Given the description of an element on the screen output the (x, y) to click on. 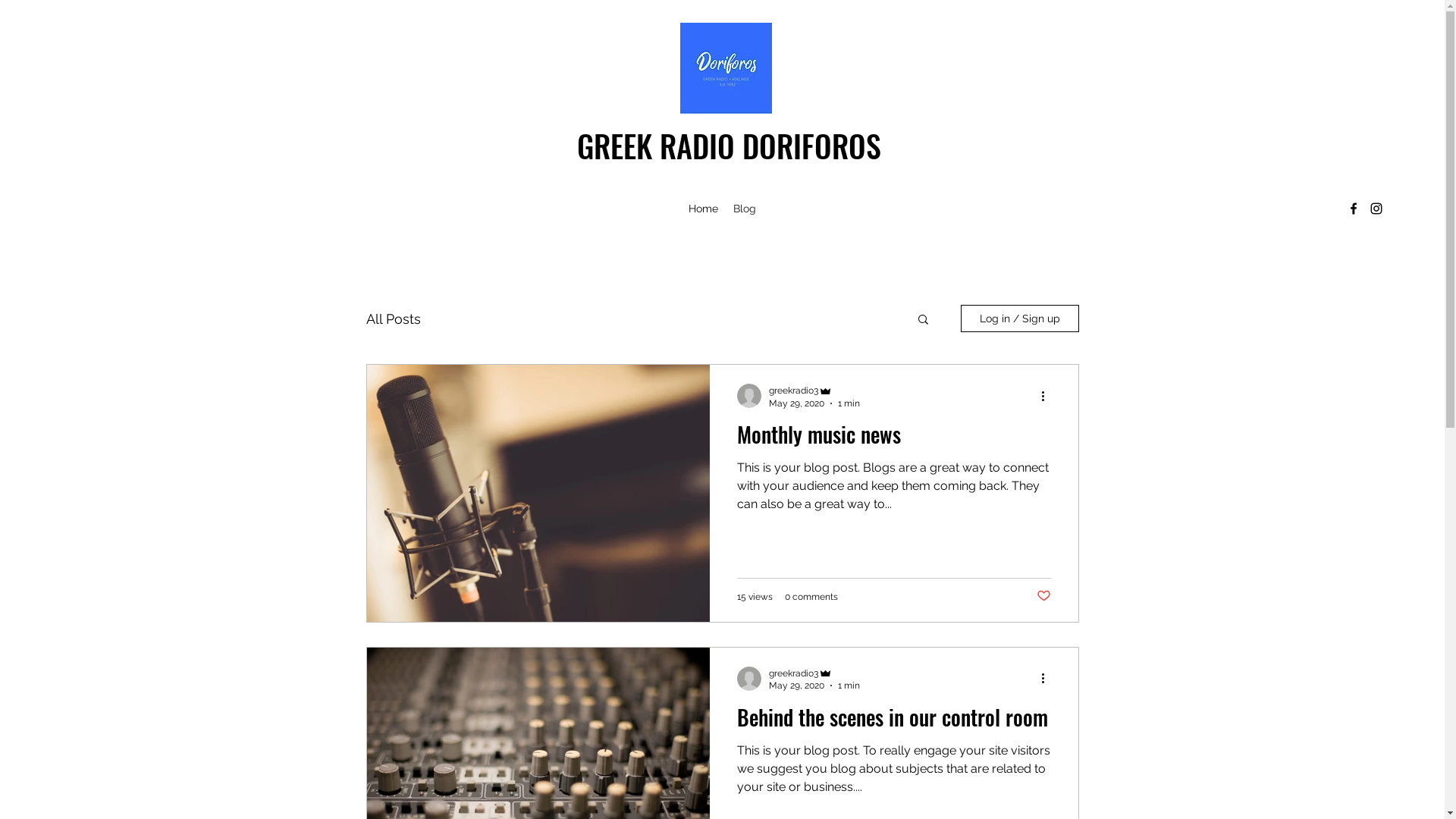
All Posts Element type: text (392, 318)
GREEK RADIO DORIFOROS Element type: text (729, 145)
Blog Element type: text (744, 208)
Post not marked as liked Element type: text (1042, 596)
Home Element type: text (702, 208)
Monthly music news Element type: text (894, 437)
0 comments Element type: text (810, 596)
Log in / Sign up Element type: text (1019, 318)
Behind the scenes in our control room Element type: text (894, 720)
